Given the description of an element on the screen output the (x, y) to click on. 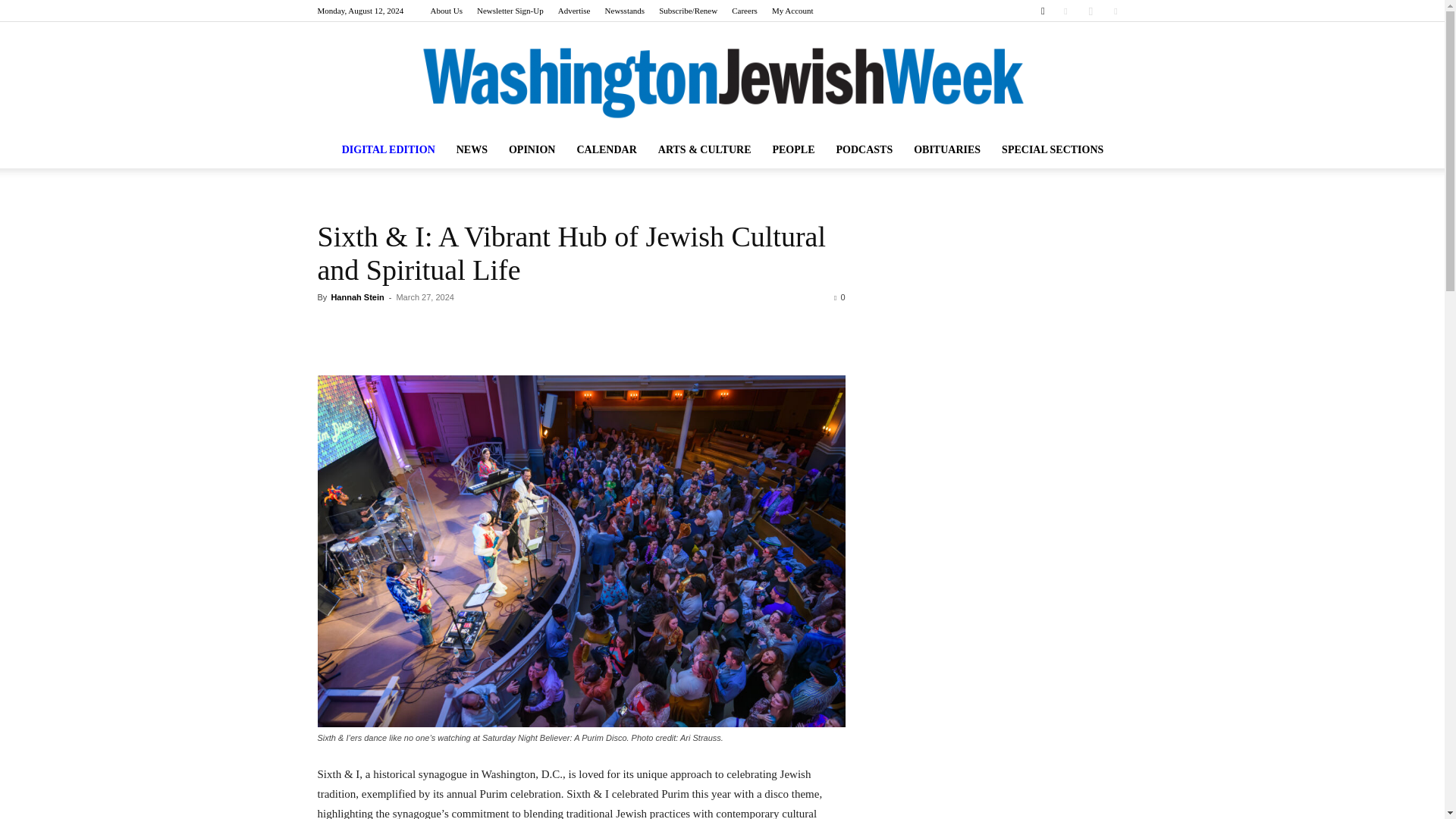
Instagram (1090, 10)
Facebook (1065, 10)
Washington Jewish Week (722, 83)
Twitter (1114, 10)
